Given the description of an element on the screen output the (x, y) to click on. 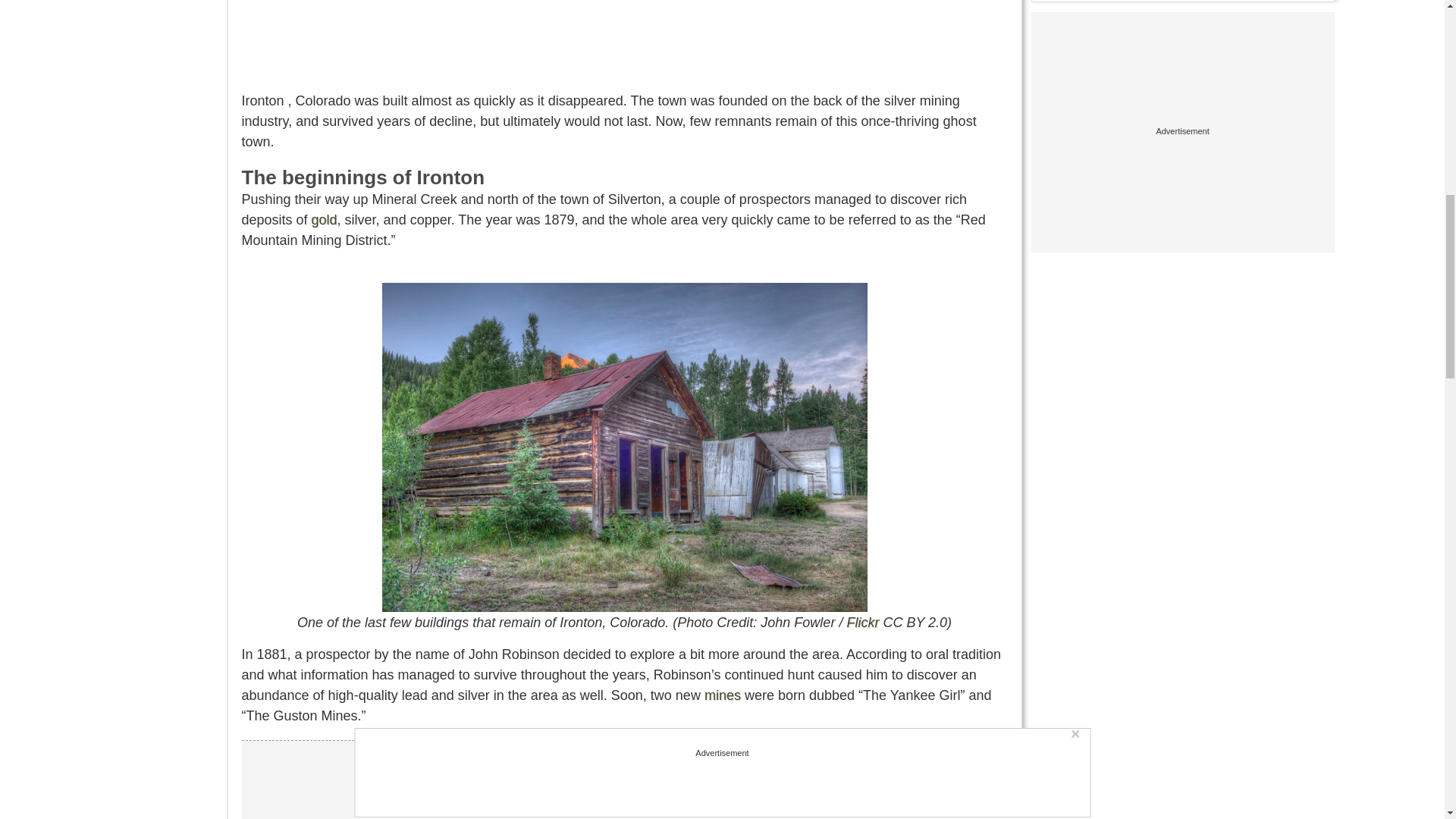
Flickr (862, 622)
gold (324, 219)
mines (722, 694)
